Given the description of an element on the screen output the (x, y) to click on. 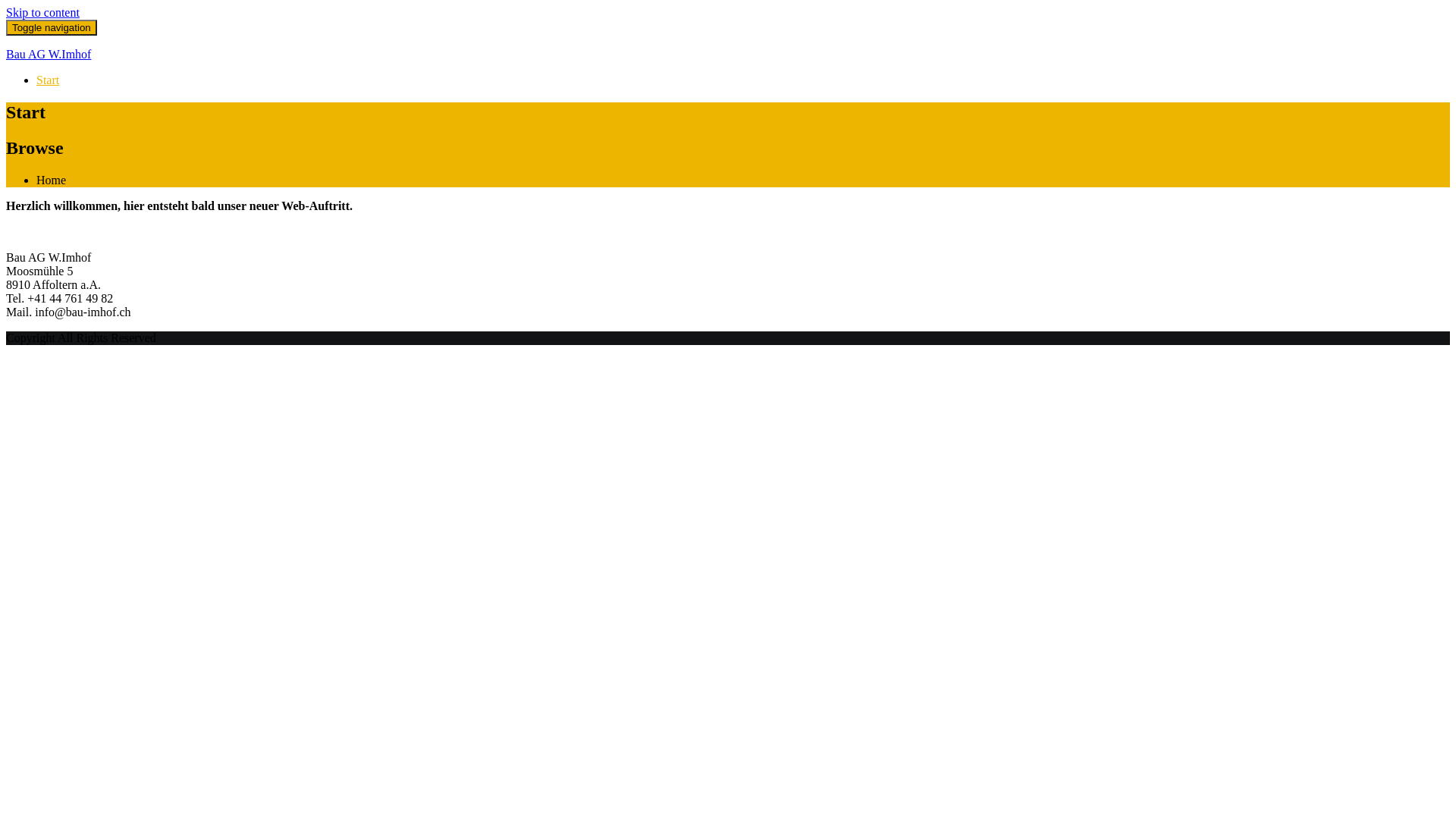
Start Element type: text (47, 79)
Bau AG W.Imhof Element type: text (48, 53)
Toggle navigation Element type: text (51, 27)
Skip to content Element type: text (42, 12)
